Given the description of an element on the screen output the (x, y) to click on. 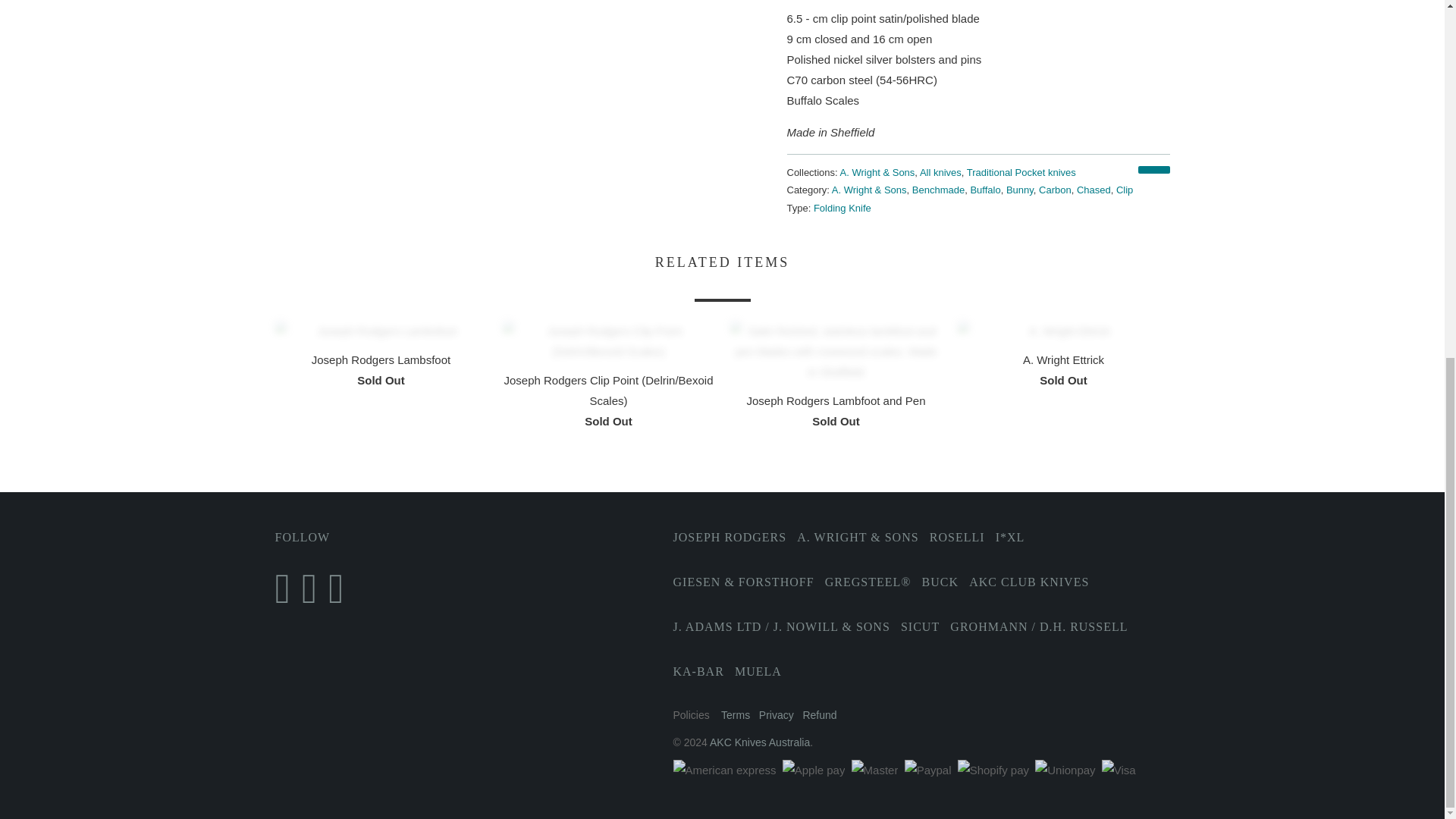
Products tagged Chased (1093, 189)
Products tagged Bunny (1019, 189)
Products tagged Buffalo (984, 189)
Traditional Pocket knives (1020, 172)
Products tagged Benchmade (937, 189)
Products tagged Clip (1124, 189)
Products tagged Carbon (1055, 189)
All knives (940, 172)
